Given the description of an element on the screen output the (x, y) to click on. 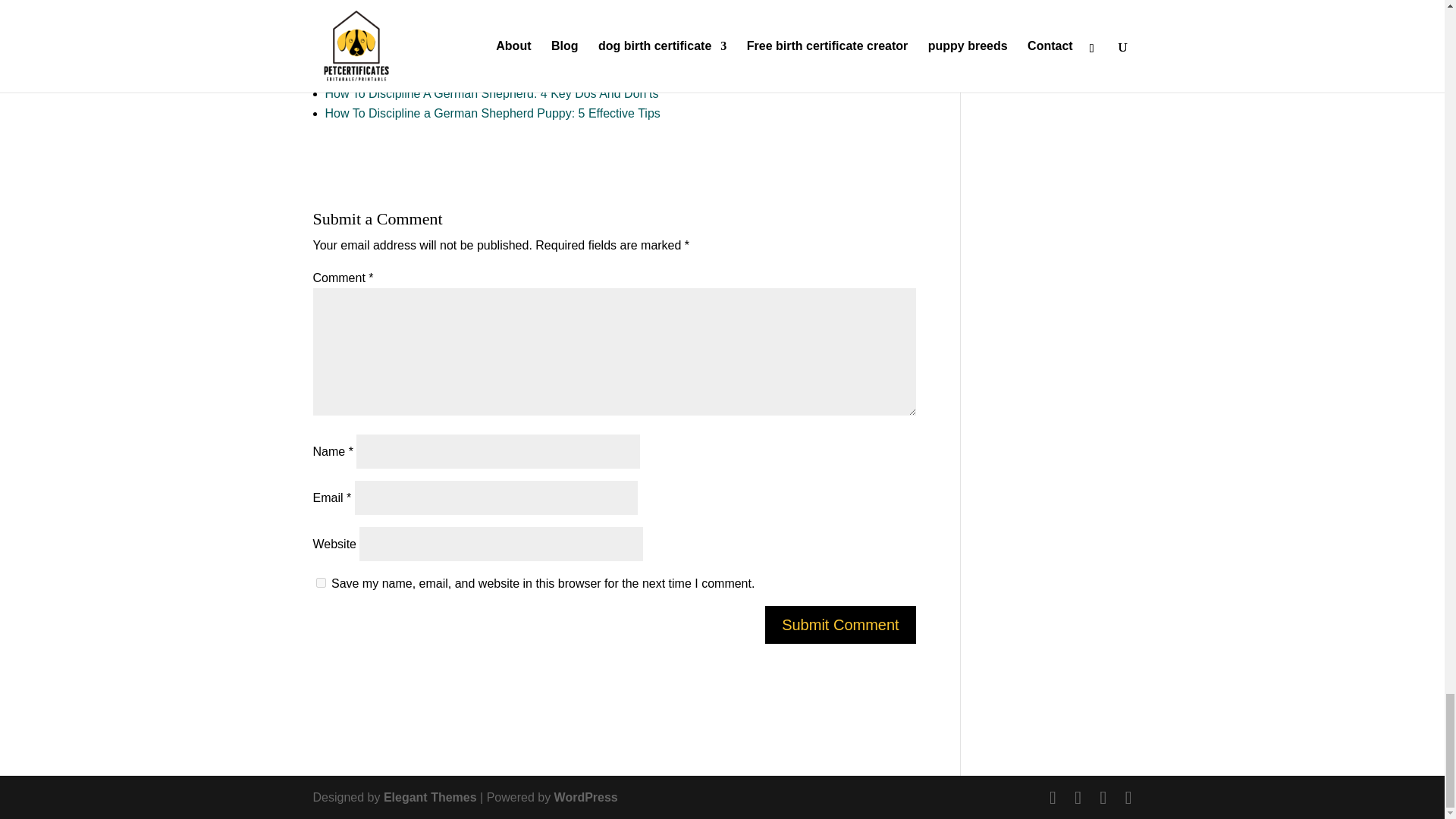
5 Safe Ways to Discipline a German Shepherd Without Force (488, 53)
Submit Comment (840, 624)
How To Discipline a German Shepherd Puppy: 5 Effective Tips (491, 113)
Submit Comment (840, 624)
yes (319, 583)
How To Discipline A German Shepherd Puppy (447, 33)
Premium WordPress Themes (430, 797)
